Given the description of an element on the screen output the (x, y) to click on. 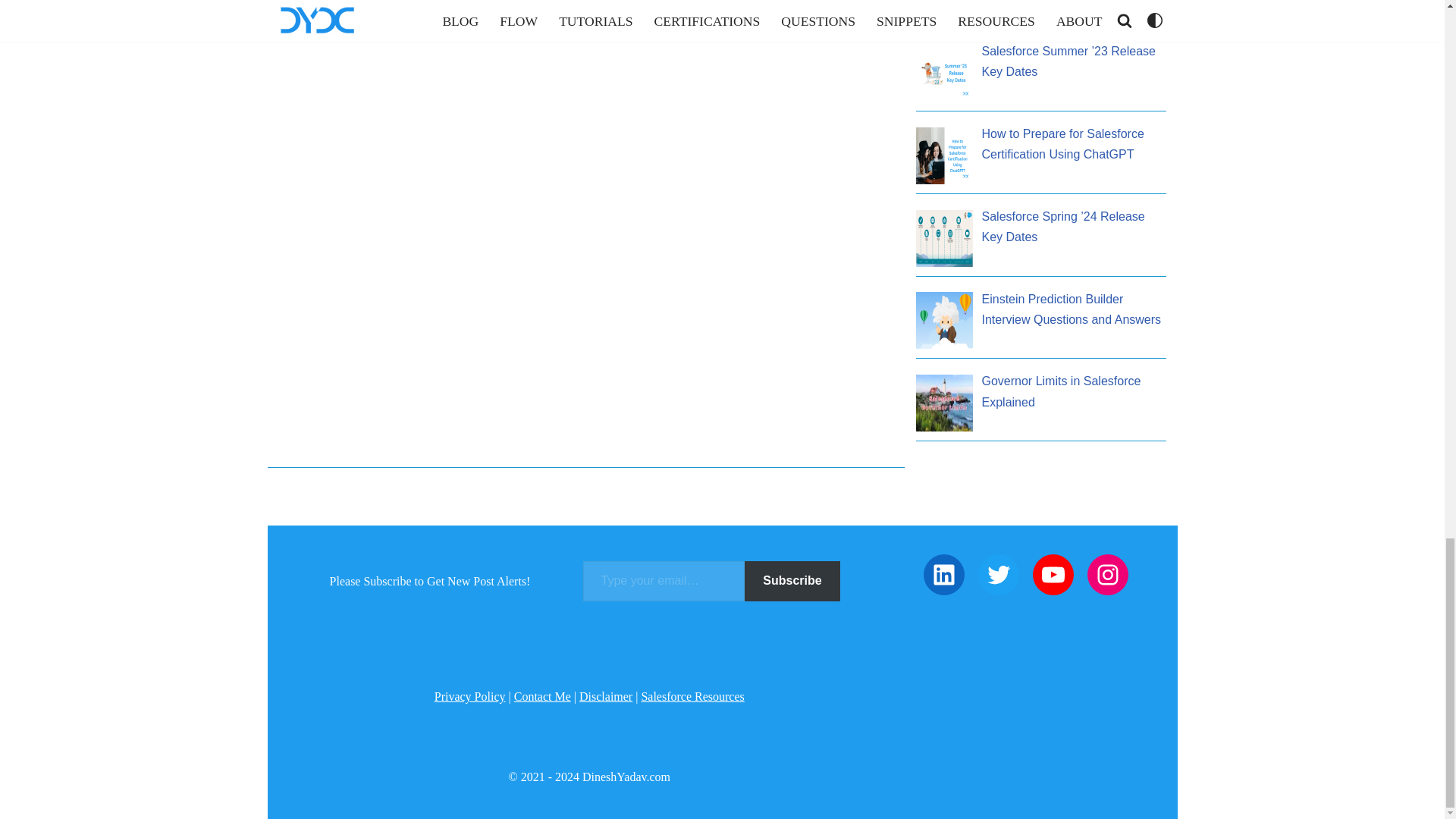
Comment Form (586, 24)
